Given the description of an element on the screen output the (x, y) to click on. 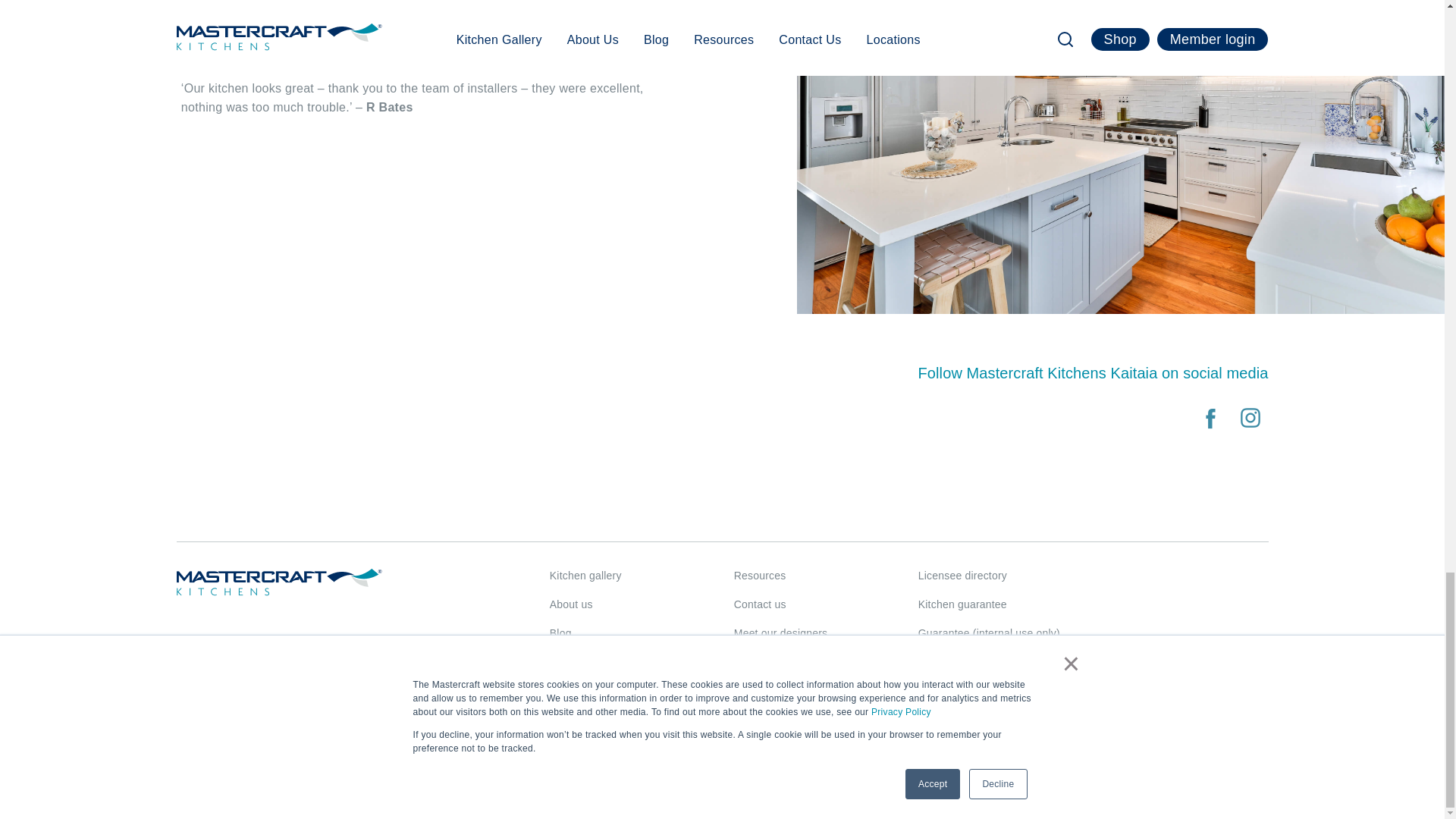
Kitchen guarantee (962, 604)
Contact us (759, 604)
Resources (759, 575)
Meet our designers (780, 633)
About us (571, 604)
Kitchen gallery (585, 575)
Mastercraft Kitchens (278, 582)
Licensee directory (962, 575)
Blog (561, 633)
